Given the description of an element on the screen output the (x, y) to click on. 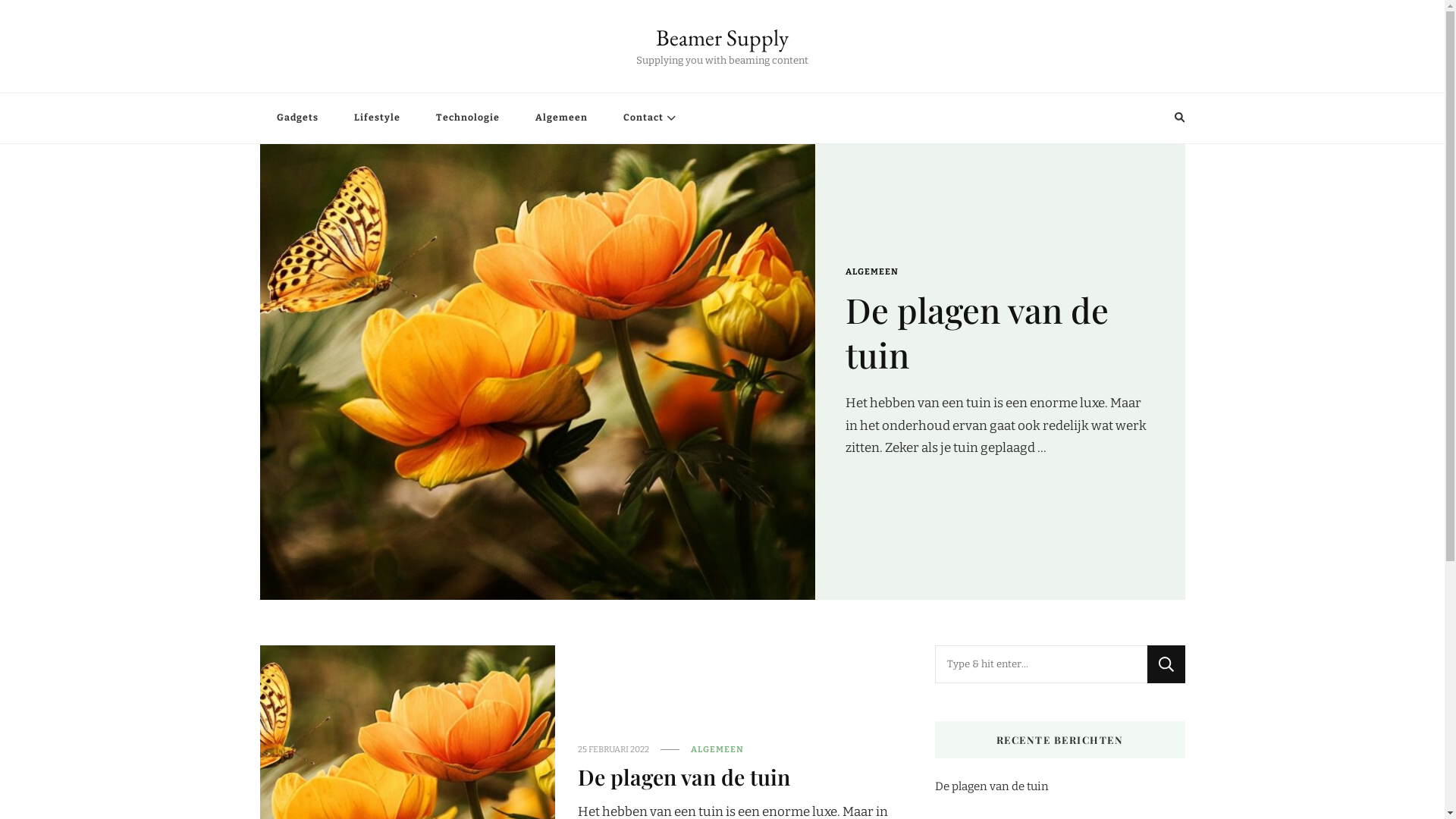
Zoeken Element type: text (1151, 117)
Algemeen Element type: text (561, 117)
25 FEBRUARI 2022 Element type: text (613, 749)
Zoeken Element type: text (1165, 664)
De plagen van de tuin Element type: text (683, 776)
Beamer Supply Element type: text (721, 37)
De plagen van de tuin Element type: text (991, 786)
ALGEMEEN Element type: text (870, 271)
Lifestyle Element type: text (376, 117)
De plagen van de tuin Element type: text (975, 331)
Gadgets Element type: text (296, 117)
ALGEMEEN Element type: text (716, 749)
Contact Element type: text (648, 117)
Technologie Element type: text (466, 117)
